Given the description of an element on the screen output the (x, y) to click on. 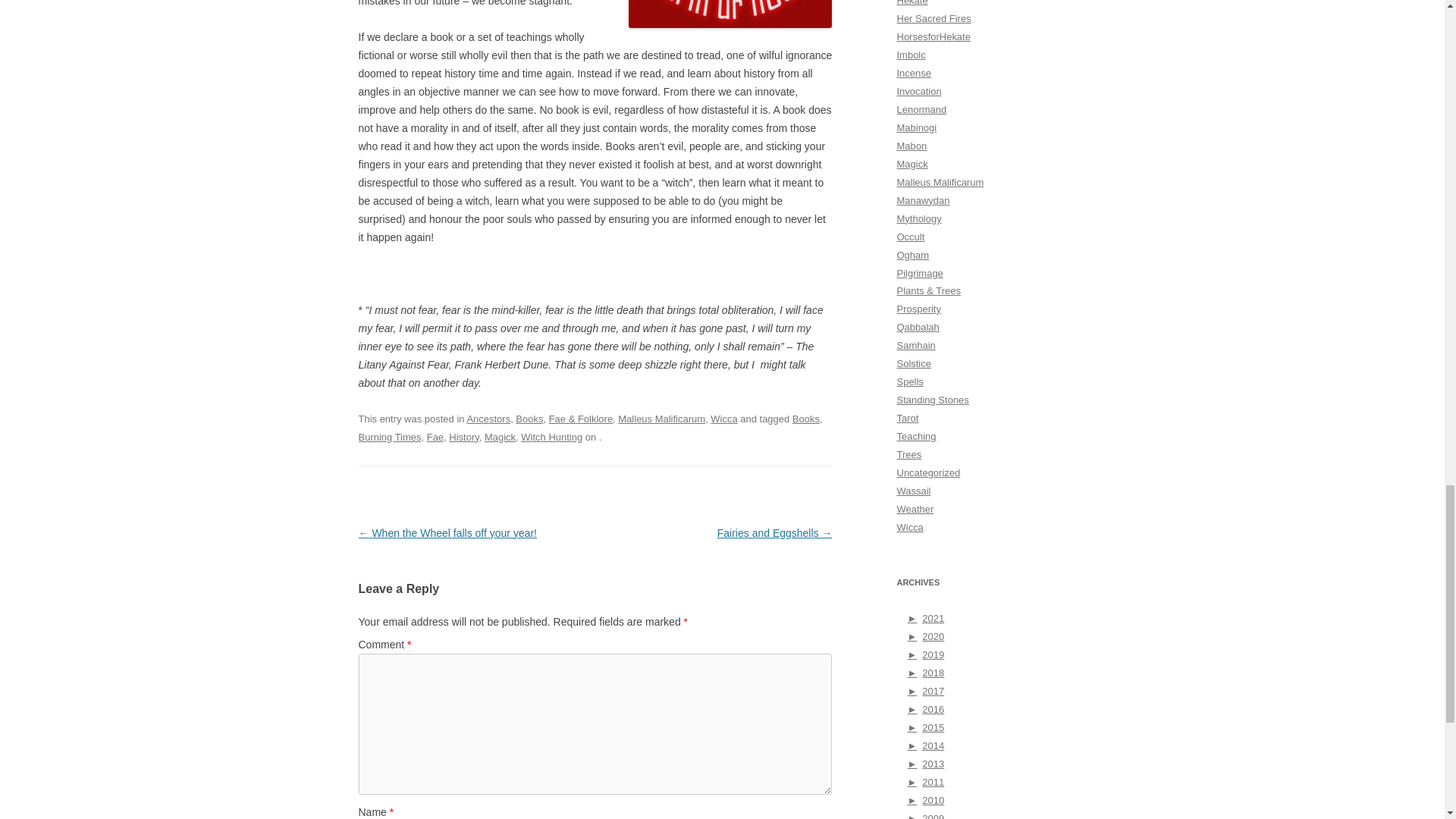
Witch Hunting (551, 437)
History (463, 437)
Malleus Malificarum (660, 419)
2019 (925, 654)
2021 (925, 618)
Fae (435, 437)
Wicca (723, 419)
Burning Times (389, 437)
Ancestors (488, 419)
Books (529, 419)
Magick (499, 437)
2020 (925, 636)
Books (805, 419)
